Given the description of an element on the screen output the (x, y) to click on. 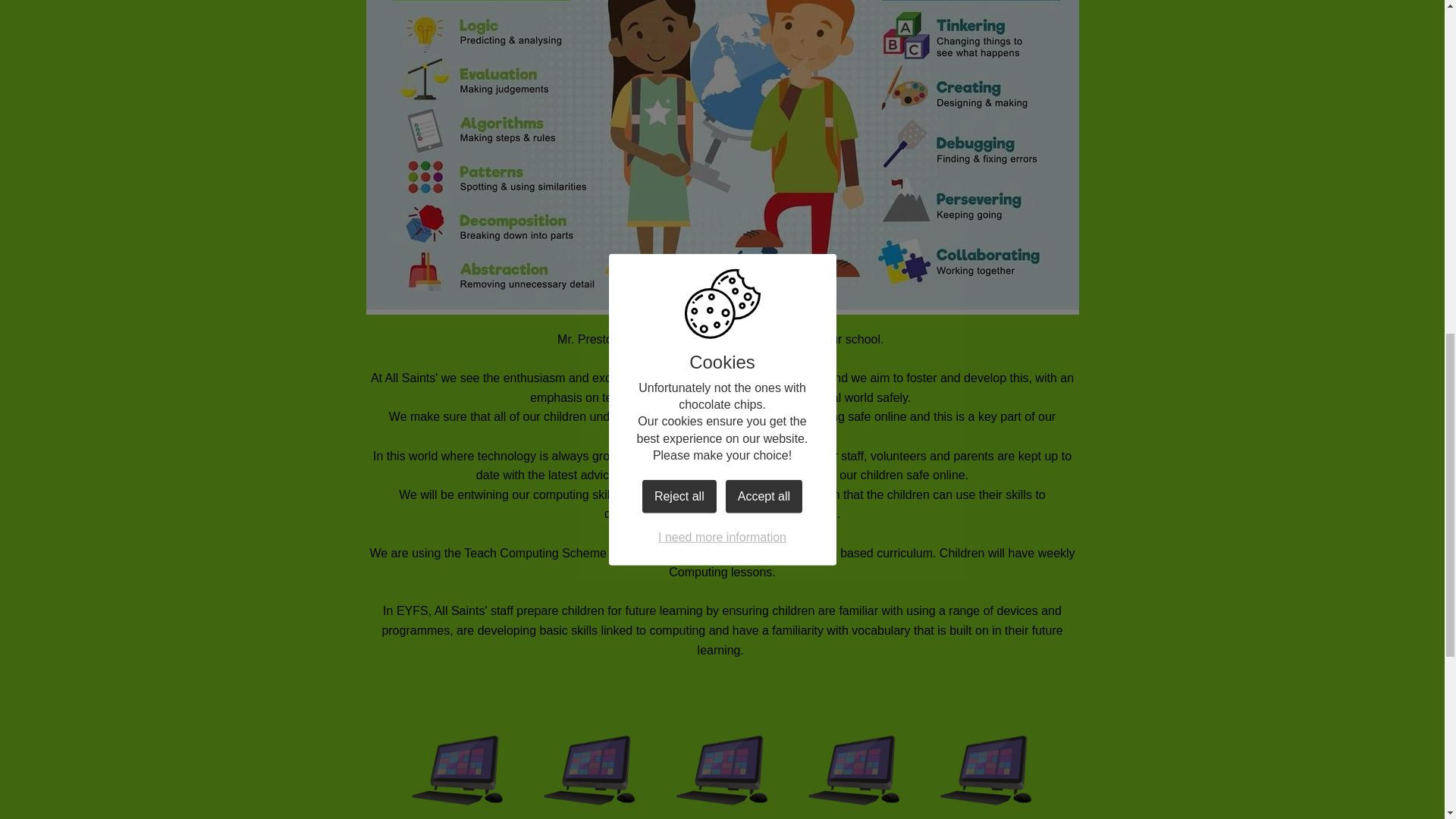
Computing Club (854, 766)
Curriculum Design Information (458, 766)
Online Safety (589, 766)
Computing at Home (986, 766)
Computing in Action (721, 766)
